Given the description of an element on the screen output the (x, y) to click on. 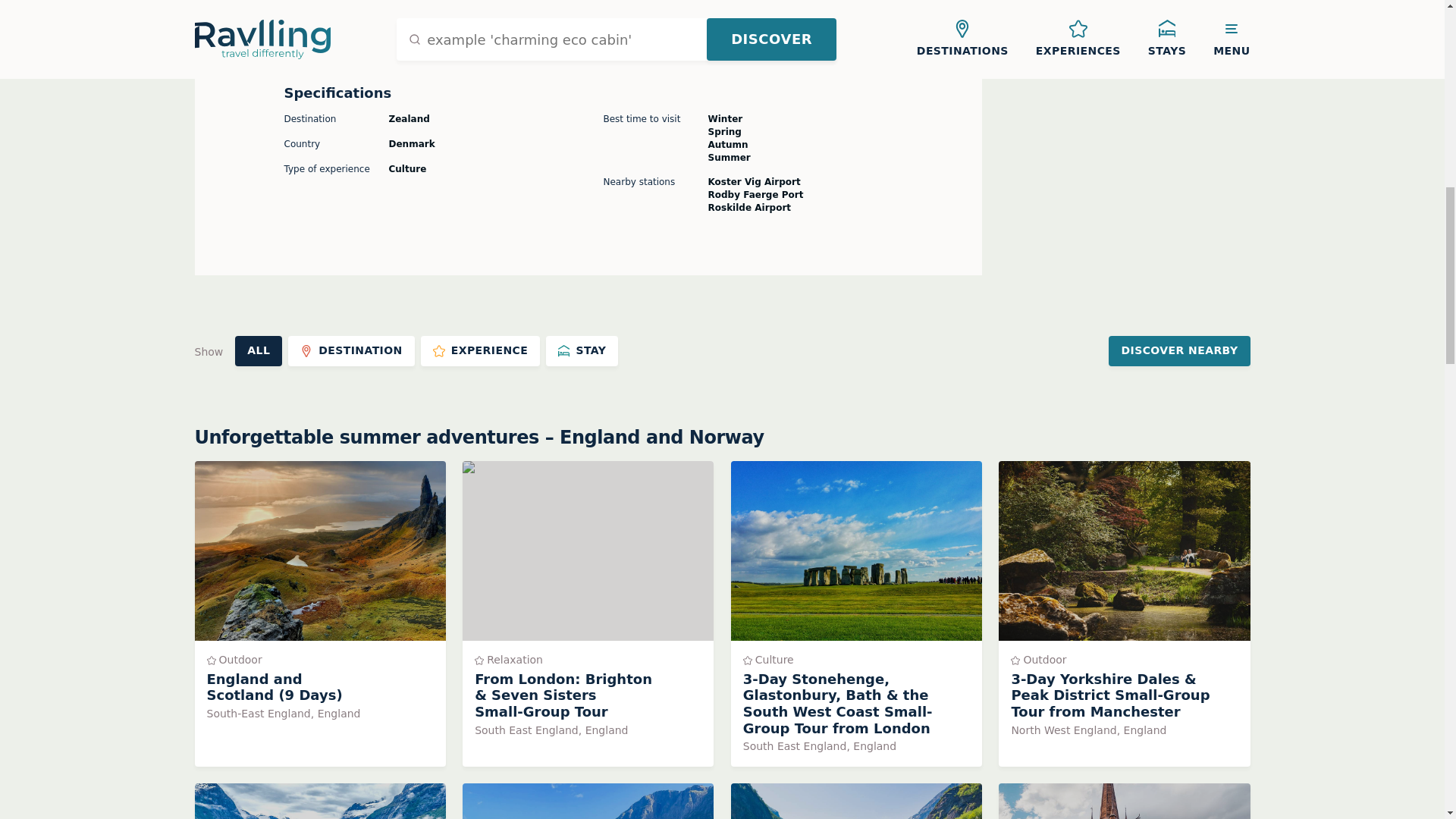
DISCOVER NEARBY (1178, 350)
5-days Fjord Norway adventure package (588, 800)
 Best of Norway Escorted Small Group Tour (1123, 800)
EXPERIENCE (480, 350)
STAY (319, 800)
DESTINATION (581, 350)
Scenic Fjords of Norway (351, 350)
